Given the description of an element on the screen output the (x, y) to click on. 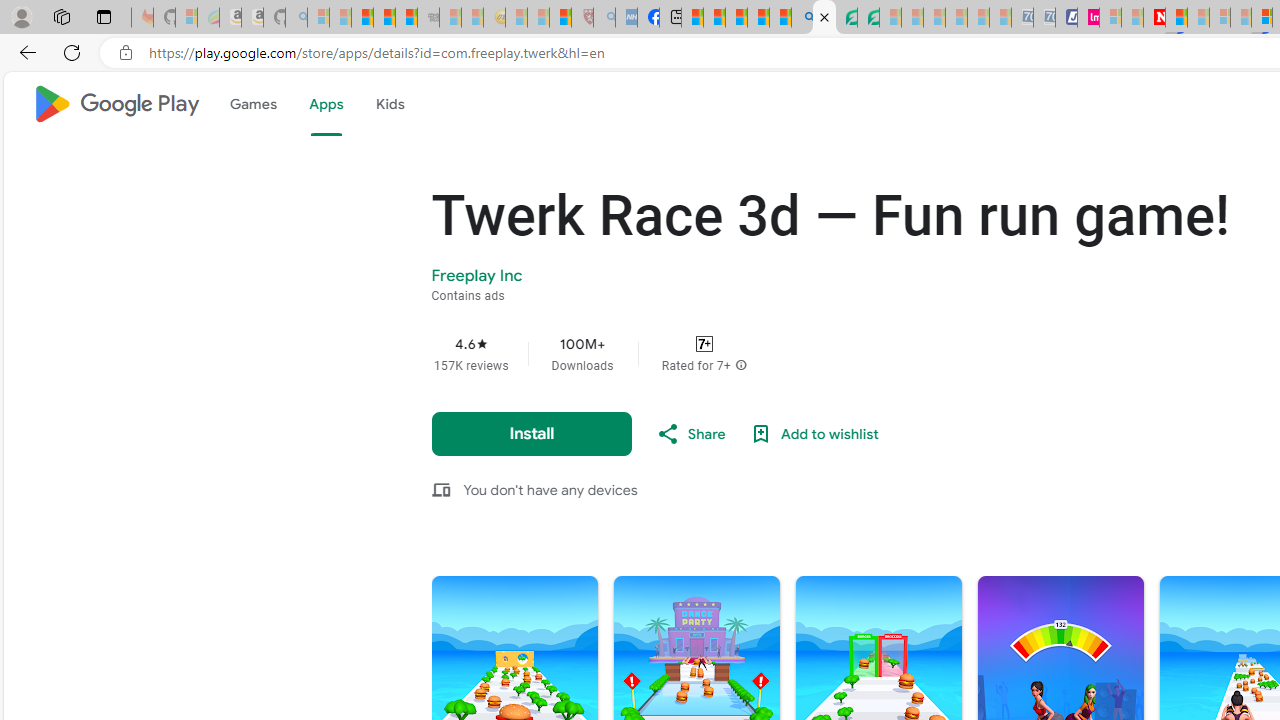
Add to wishlist (814, 433)
Terms of Use Agreement (846, 17)
